Given the description of an element on the screen output the (x, y) to click on. 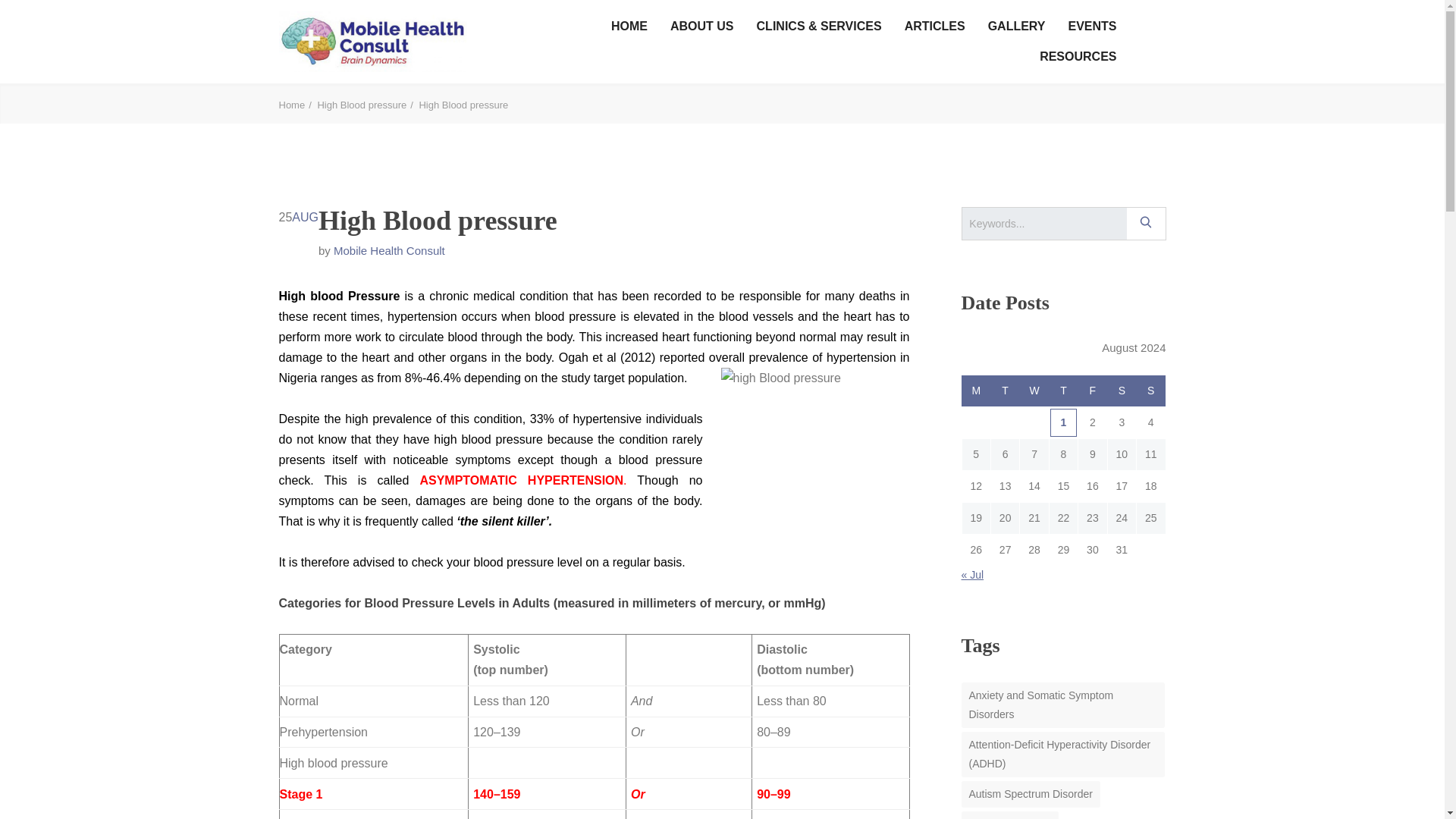
149852 (1144, 222)
Thursday (1062, 391)
Friday (1092, 391)
High Blood pressure (365, 104)
HOME (629, 26)
Tuesday (1004, 391)
GALLERY (1015, 26)
ABOUT US (701, 26)
Home (296, 104)
ARTICLES (934, 26)
